Given the description of an element on the screen output the (x, y) to click on. 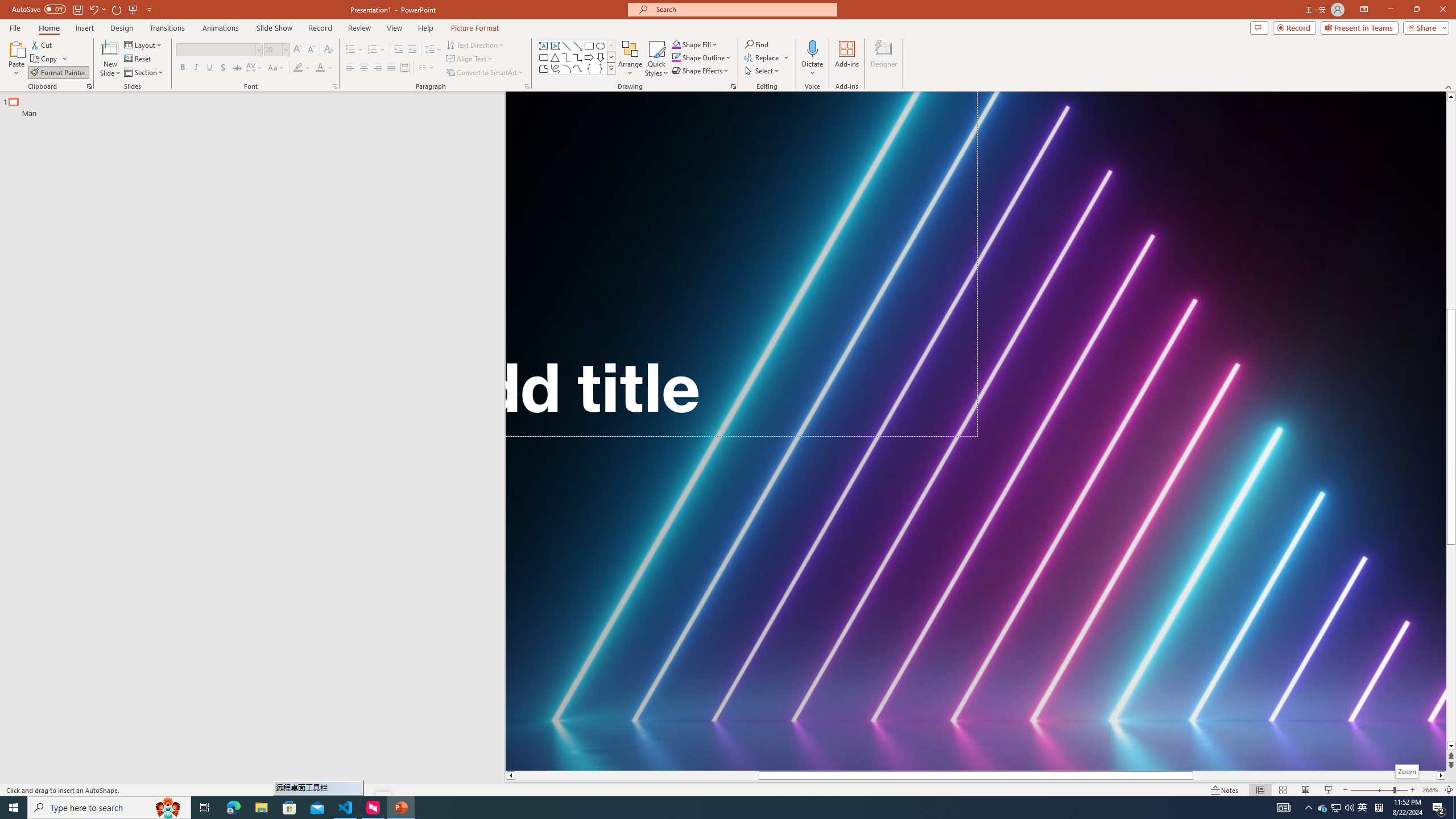
Outline (256, 104)
